Given the description of an element on the screen output the (x, y) to click on. 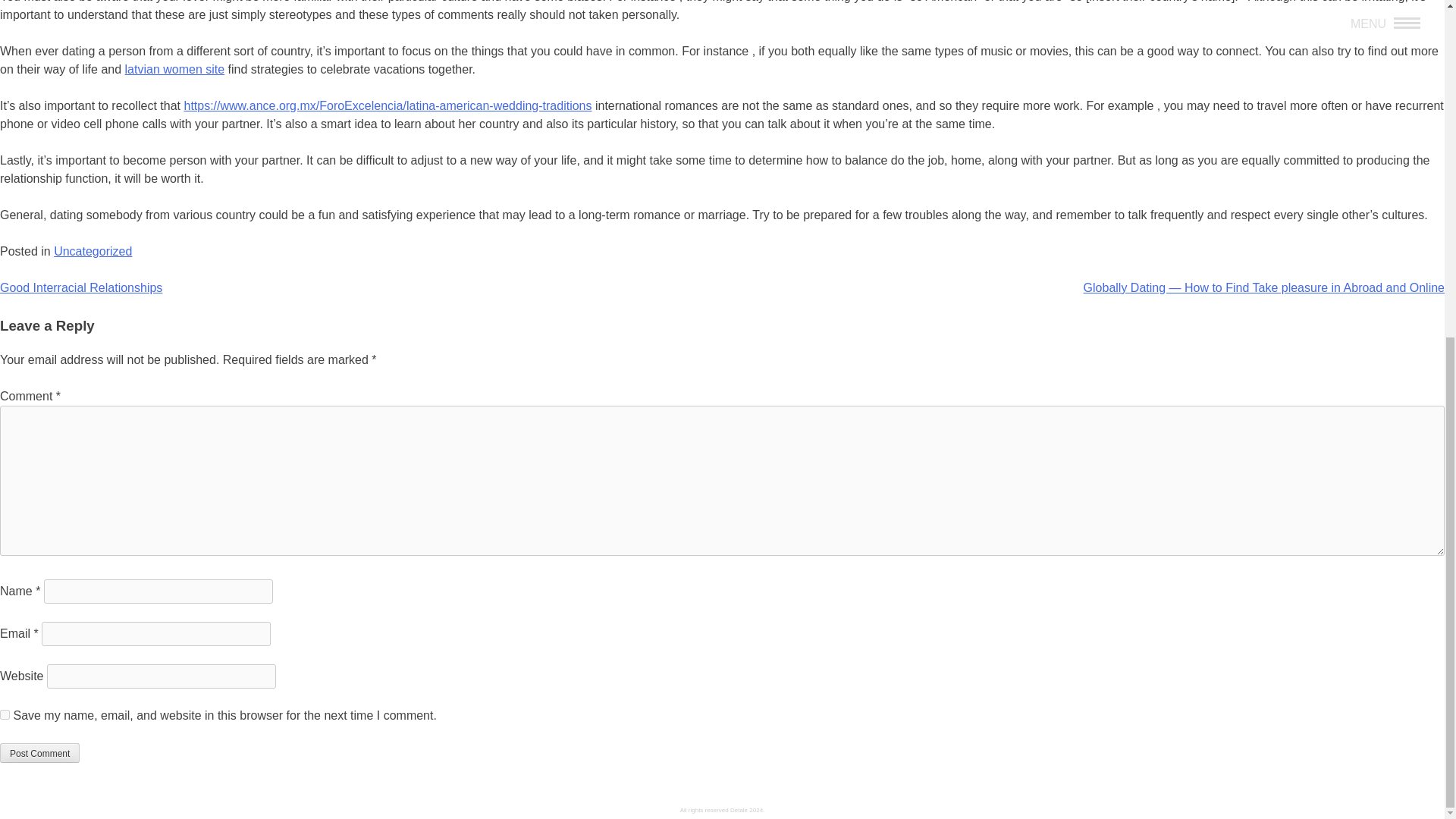
latvian women site (175, 69)
yes (5, 714)
Post Comment (40, 752)
Uncategorized (92, 250)
Good Interracial Relationships (80, 287)
Post Comment (40, 752)
